Given the description of an element on the screen output the (x, y) to click on. 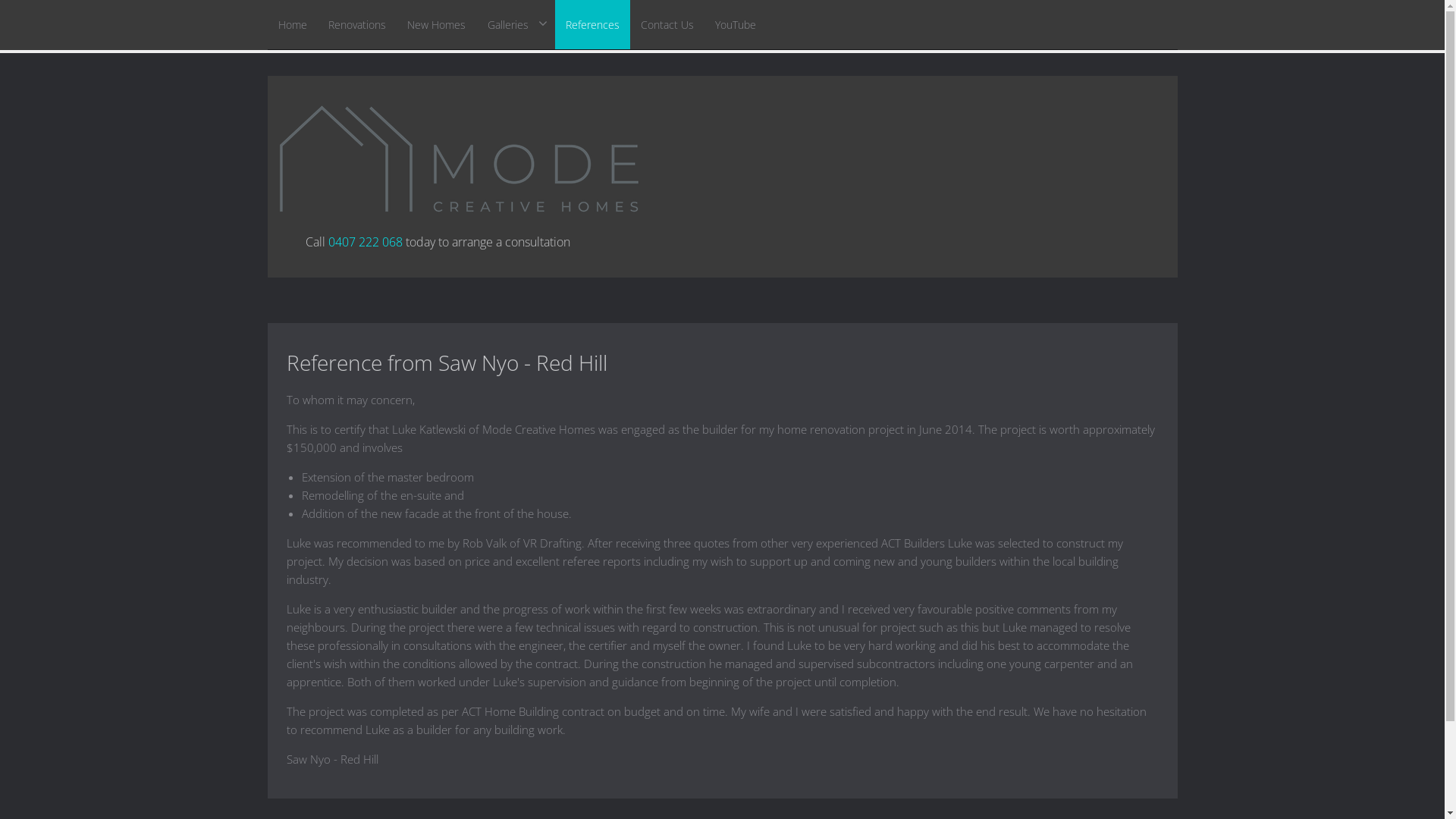
Home Element type: text (291, 24)
References Element type: text (592, 24)
Contact Us Element type: text (666, 24)
Galleries Element type: text (515, 24)
New Homes Element type: text (435, 24)
0407 222 068 Element type: text (364, 241)
Renovations Element type: text (355, 24)
YouTube Element type: text (734, 24)
